Given the description of an element on the screen output the (x, y) to click on. 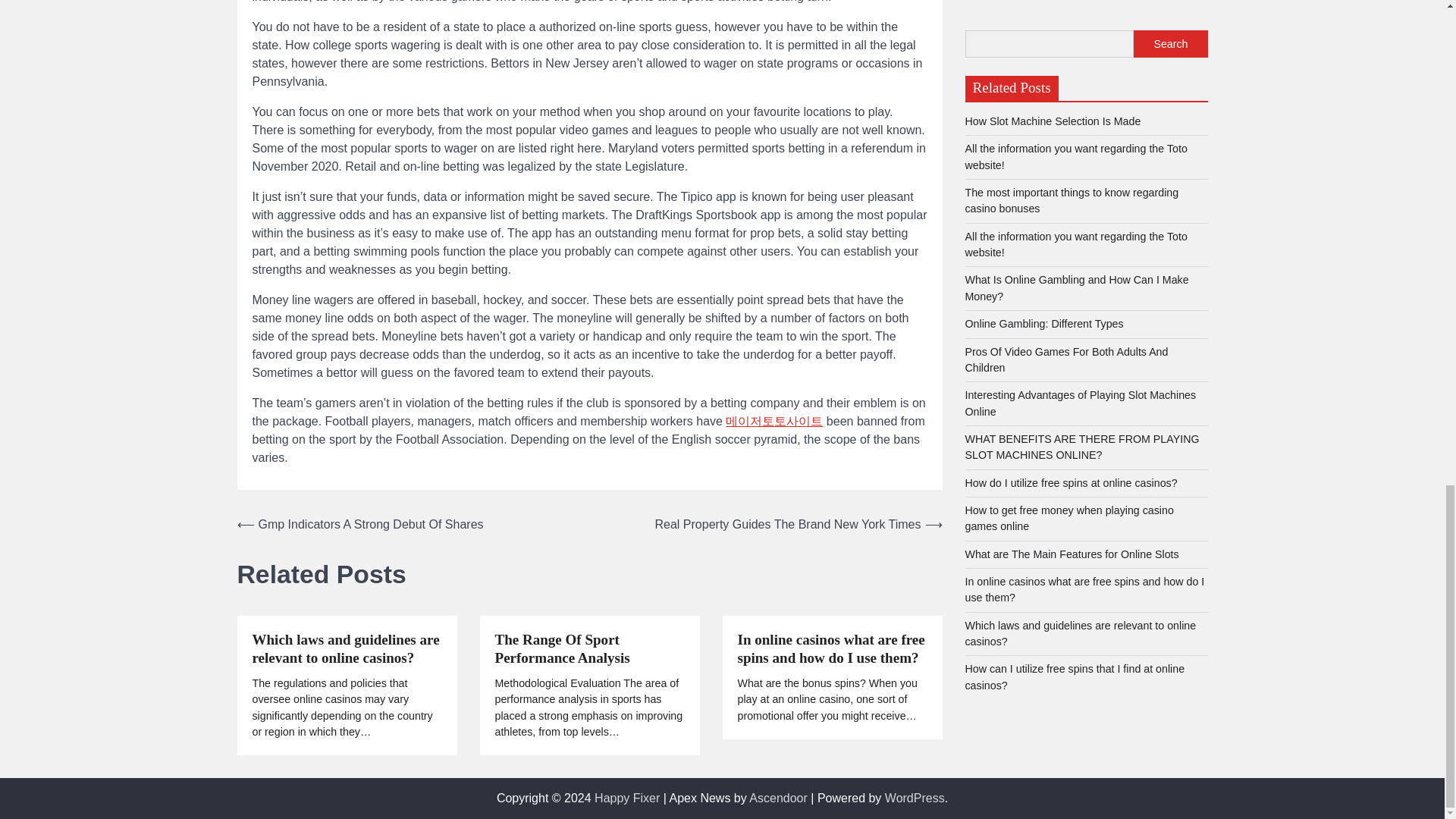
The Range Of Sport Performance Analysis (589, 649)
Ascendoor (778, 797)
In online casinos what are free spins and how do I use them? (831, 649)
Happy Fixer (626, 797)
WordPress (914, 797)
Which laws and guidelines are relevant to online casinos? (346, 649)
